Given the description of an element on the screen output the (x, y) to click on. 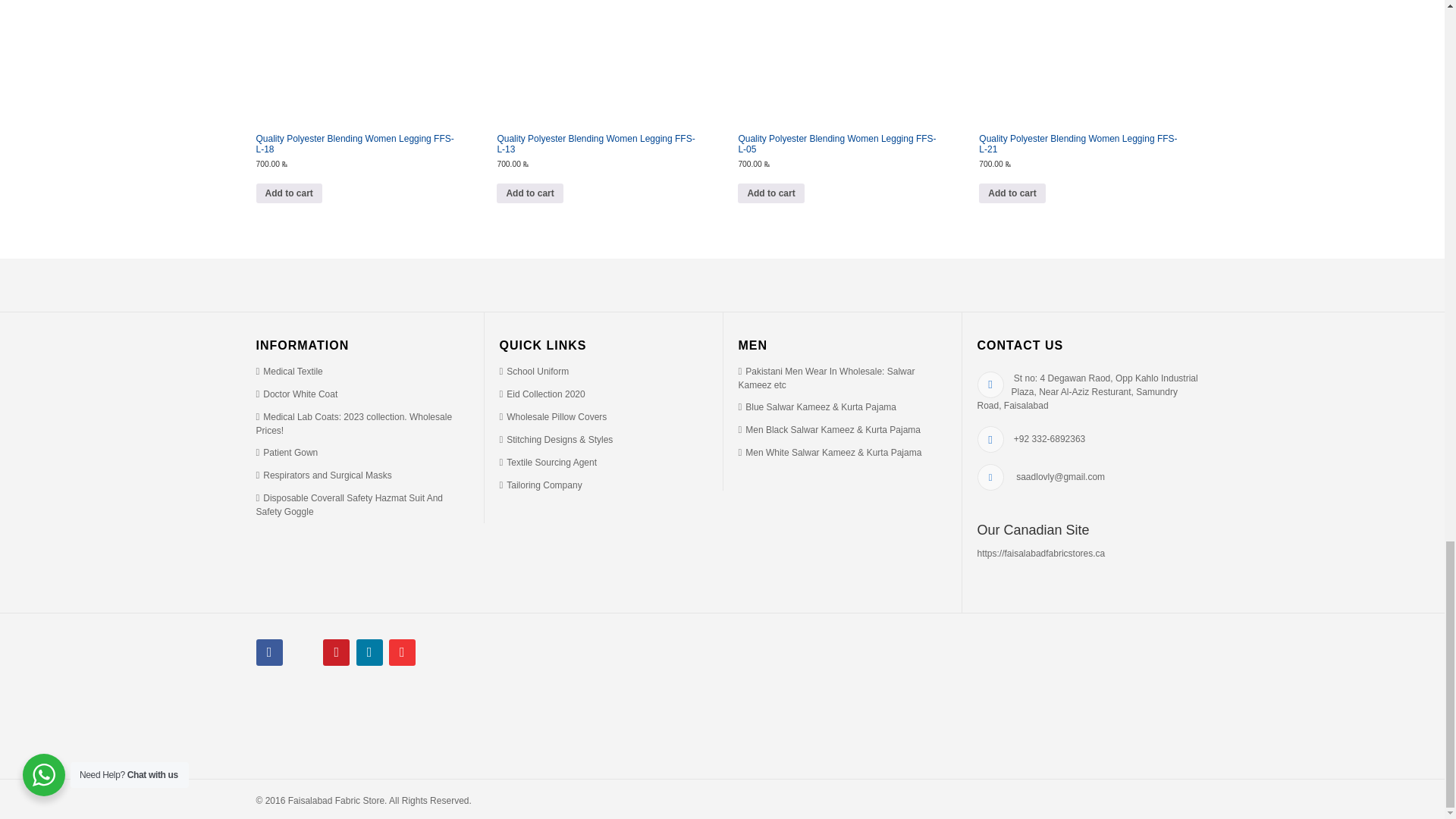
How to buy (547, 462)
How to buy (553, 416)
How to buy (296, 394)
How to buy (555, 439)
How to buy (350, 504)
How to buy (354, 423)
How to buy (289, 371)
How to buy (542, 394)
How to buy (826, 378)
How to buy (539, 484)
How to buy (287, 452)
How to buy (534, 371)
How to buy (323, 475)
